Given the description of an element on the screen output the (x, y) to click on. 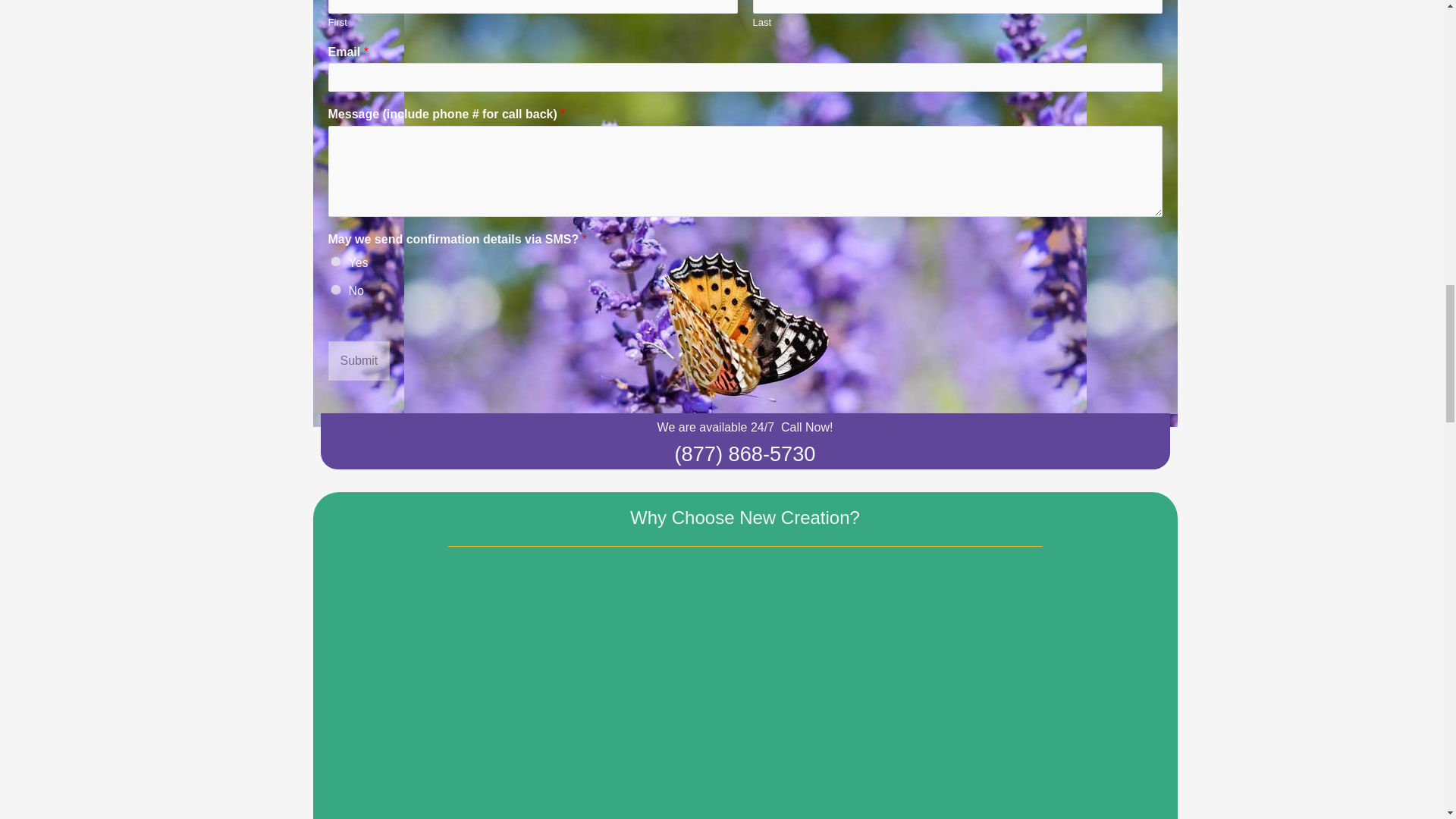
No (335, 289)
Yes (335, 261)
